Given the description of an element on the screen output the (x, y) to click on. 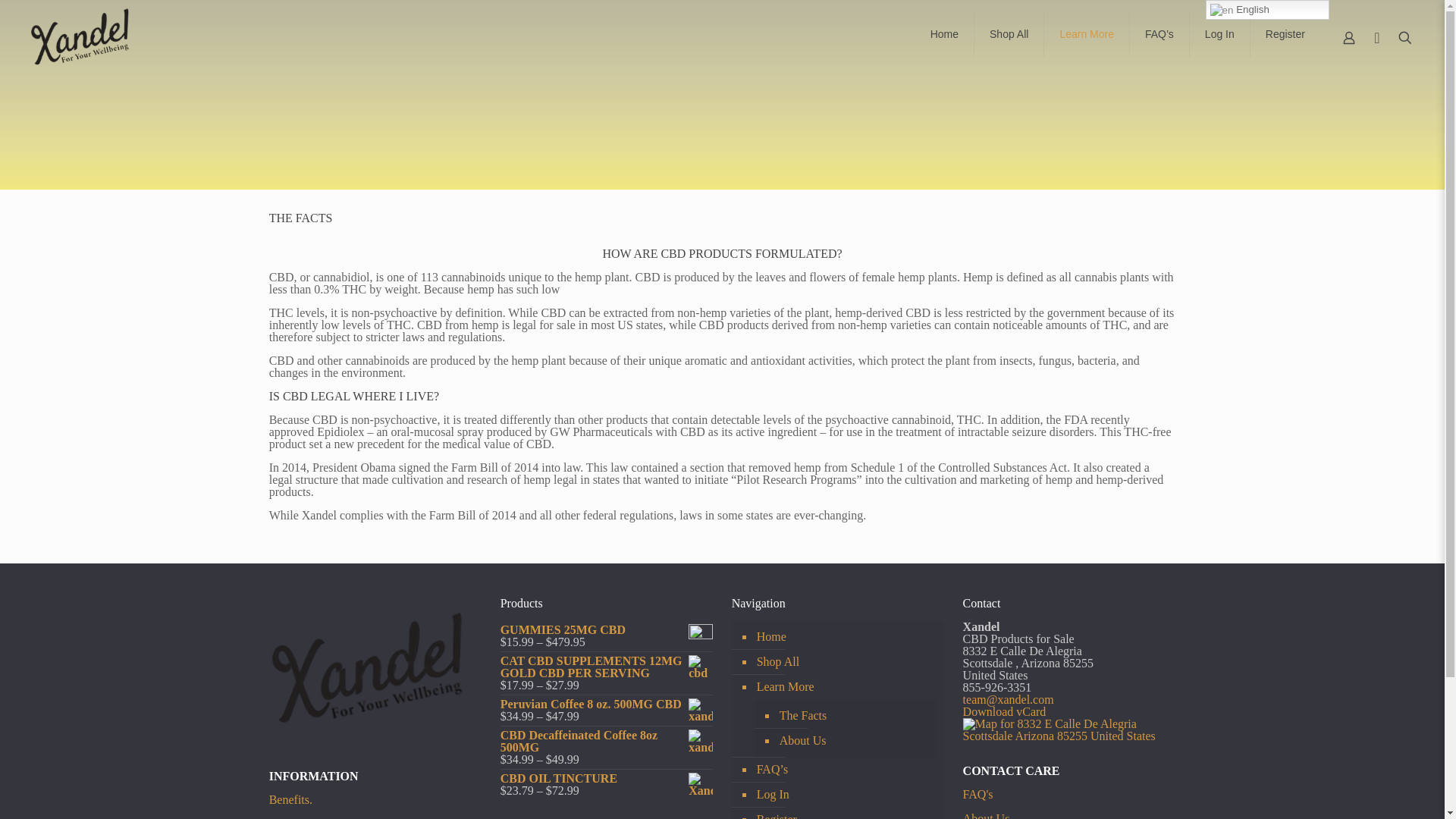
Download vCard (1004, 711)
Register (1285, 33)
Log In (845, 794)
FAQ's (977, 793)
Peruvian Coffee 8 oz. 500MG CBD (606, 704)
Learn More (845, 687)
GUMMIES 25MG CBD (606, 630)
CBD OIL TINCTURE (606, 778)
Benefits. (291, 799)
